Given the description of an element on the screen output the (x, y) to click on. 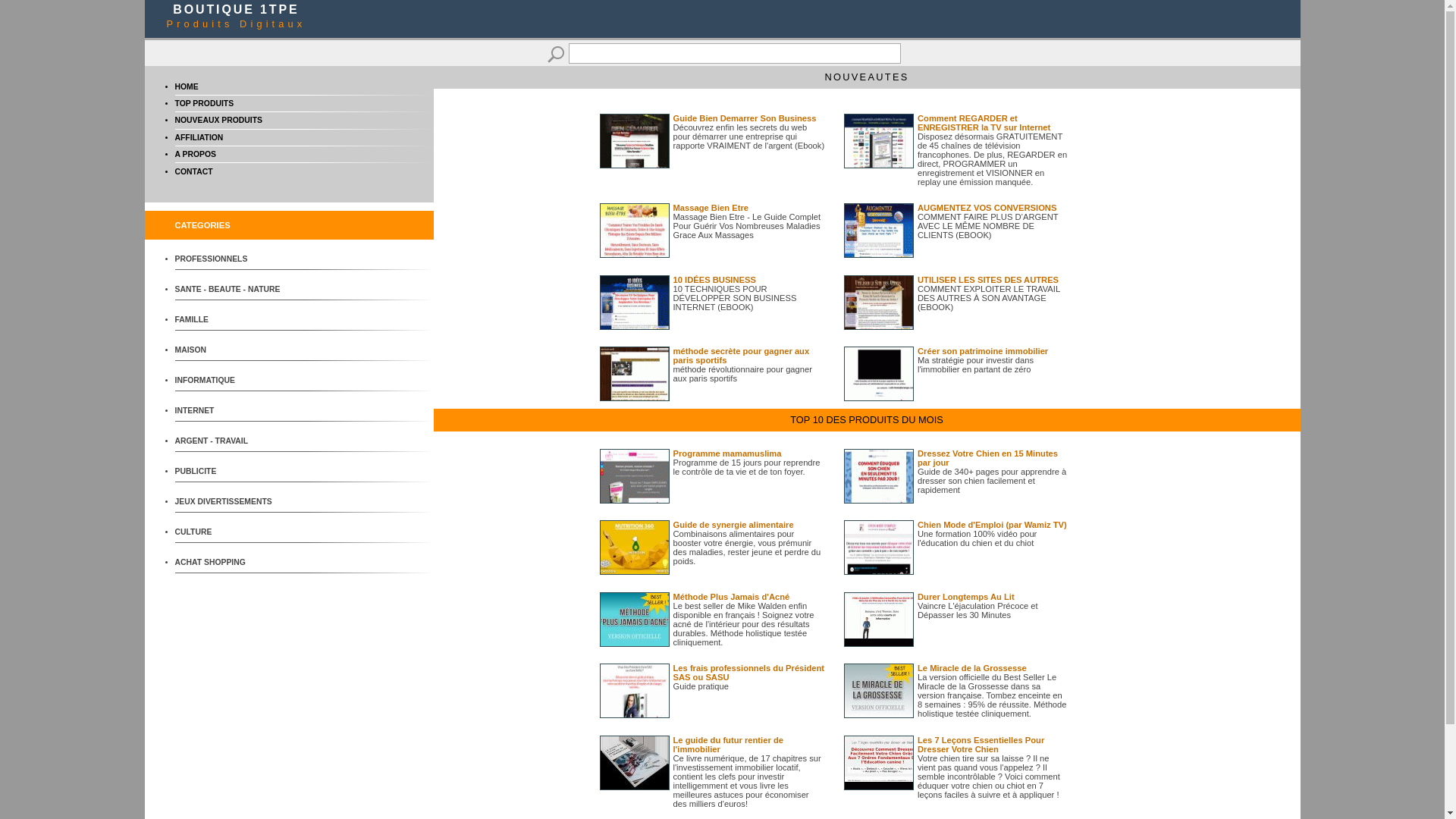
NOUVEAUX PRODUITS Element type: text (217, 120)
Le Miracle de la Grossesse Element type: text (971, 667)
AFFILIATION Element type: text (198, 137)
JEUX DIVERTISSEMENTS Element type: text (231, 501)
INTERNET Element type: text (231, 410)
HOME Element type: text (185, 86)
A PROPOS Element type: text (194, 154)
Durer Longtemps Au Lit Element type: text (965, 596)
MAISON Element type: text (231, 349)
Guide Bien Demarrer Son Business Element type: text (744, 117)
Guide pratique Element type: text (700, 685)
FAMILLE Element type: text (231, 319)
Programme mamamuslima Element type: text (727, 453)
Massage Bien Etre Element type: text (711, 207)
TOP PRODUITS Element type: text (203, 103)
Le guide du futur rentier de l'immobilier Element type: text (728, 744)
AUGMENTEZ VOS CONVERSIONS Element type: text (986, 207)
Comment REGARDER et ENREGISTRER la TV sur Internet Element type: text (983, 122)
Chien Mode d'Emploi (par Wamiz TV) Element type: text (991, 524)
Guide de synergie alimentaire Element type: text (733, 524)
PROFESSIONNELS Element type: text (231, 258)
ARGENT - TRAVAIL Element type: text (231, 440)
Dressez Votre Chien en 15 Minutes par jour Element type: text (987, 457)
CONTACT Element type: text (193, 171)
CULTURE Element type: text (231, 531)
SANTE - BEAUTE - NATURE Element type: text (231, 289)
INFORMATIQUE Element type: text (231, 380)
PUBLICITE Element type: text (231, 471)
UTILISER LES SITES DES AUTRES Element type: text (987, 279)
ACHAT SHOPPING Element type: text (231, 562)
